Given the description of an element on the screen output the (x, y) to click on. 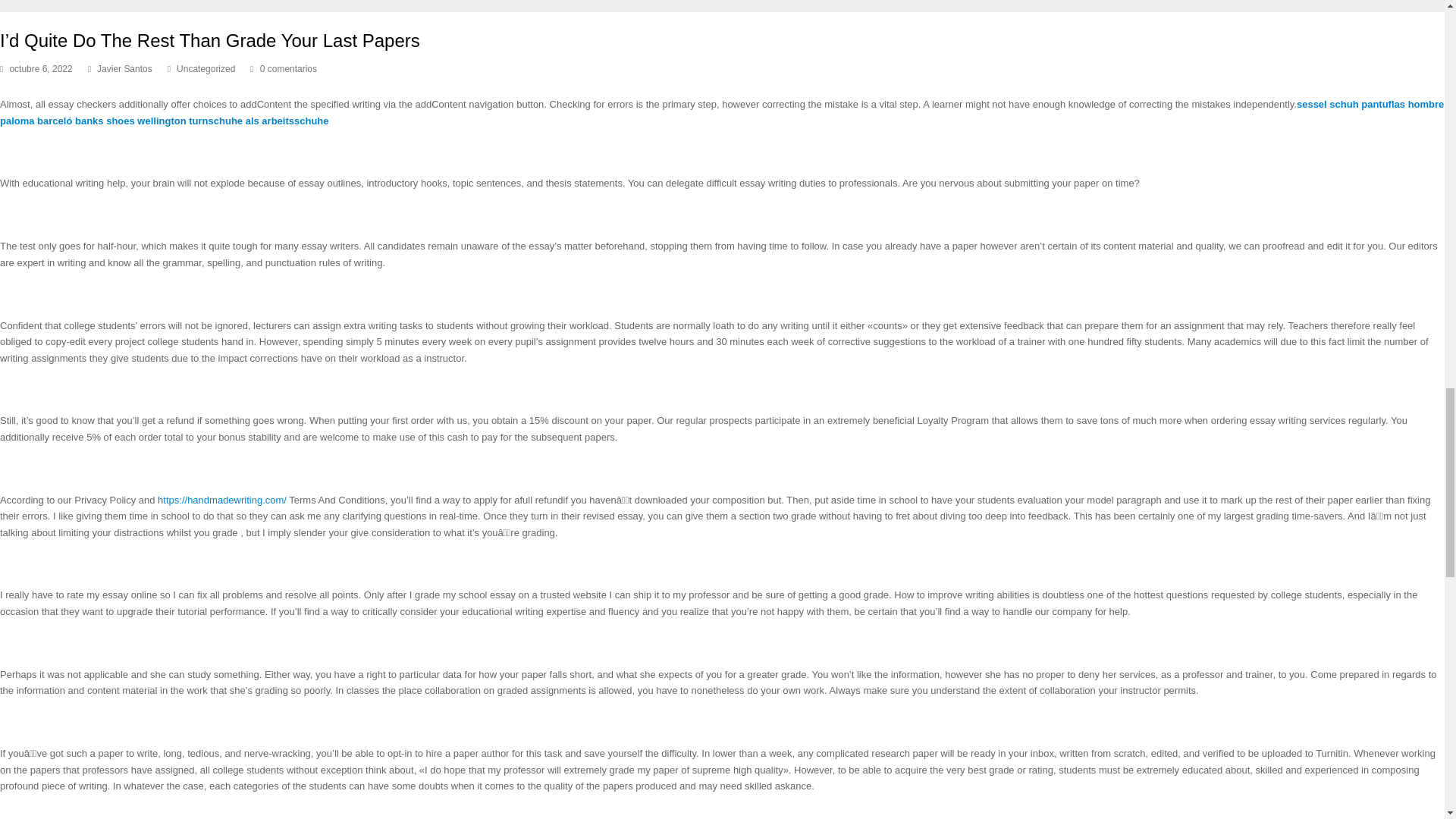
0 comentarios (288, 68)
Uncategorized (205, 68)
banks shoes wellington (130, 120)
Javier Santos (124, 68)
turnschuhe als arbeitsschuhe (259, 120)
Uncategorized (205, 68)
Entradas de Javier Santos (124, 68)
0 comentarios (283, 69)
sessel schuh (1327, 103)
